Given the description of an element on the screen output the (x, y) to click on. 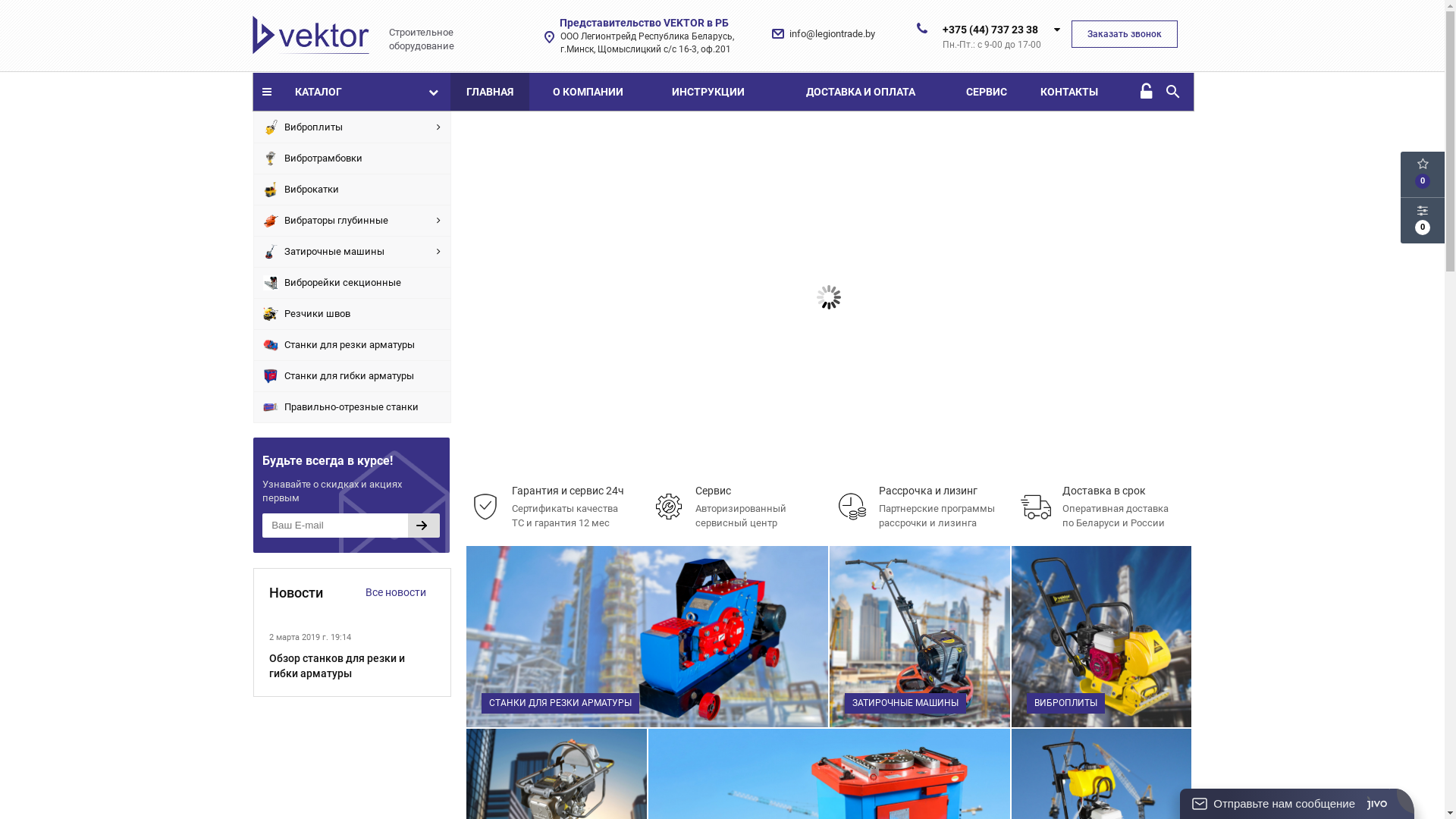
info@legiontrade.by Element type: text (832, 33)
search Element type: text (1172, 91)
0 Element type: text (1422, 174)
0 Element type: text (1422, 220)
+375 (44) 737 23 38 Element type: text (990, 29)
